Given the description of an element on the screen output the (x, y) to click on. 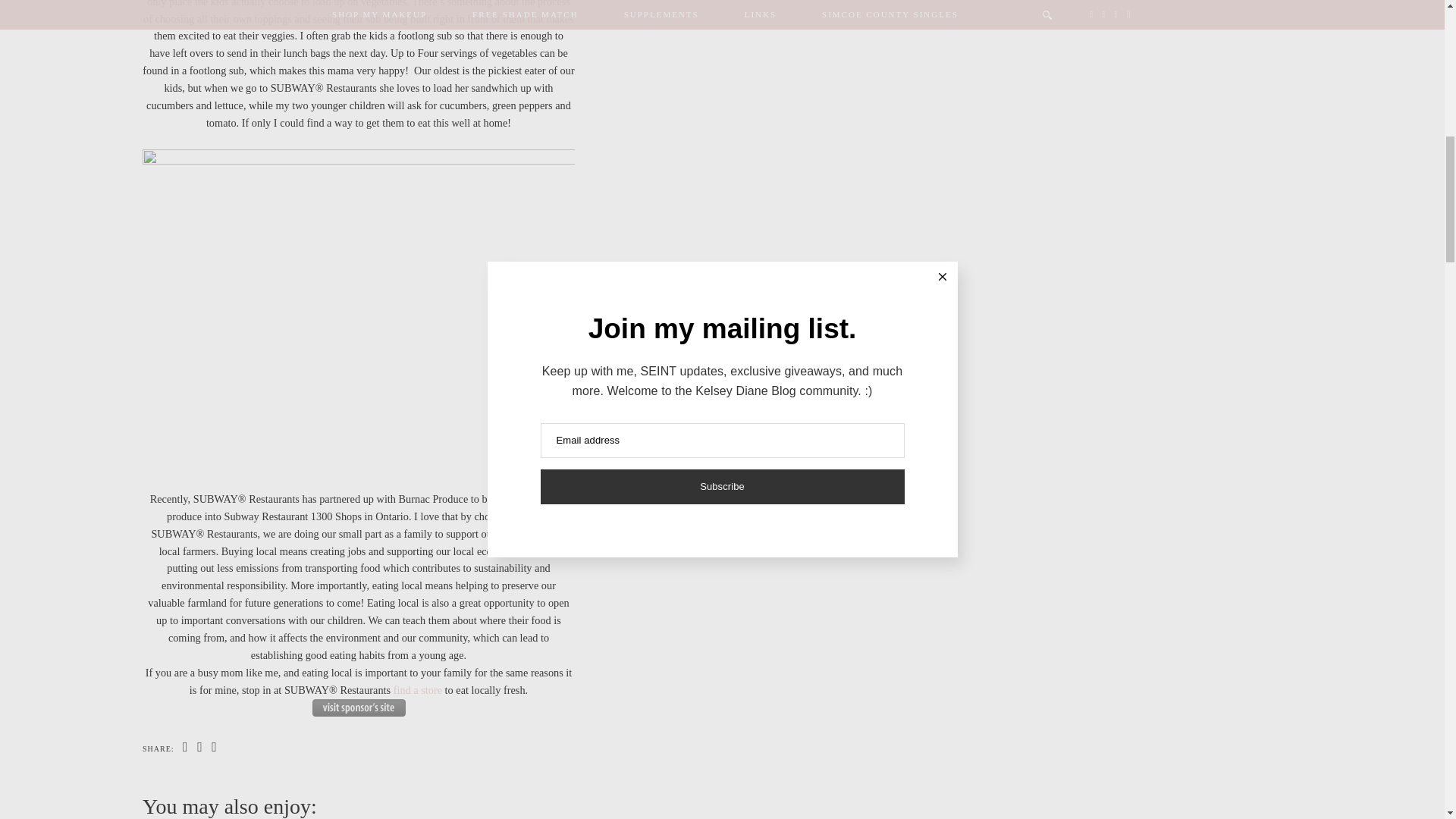
find a store (417, 689)
